Given the description of an element on the screen output the (x, y) to click on. 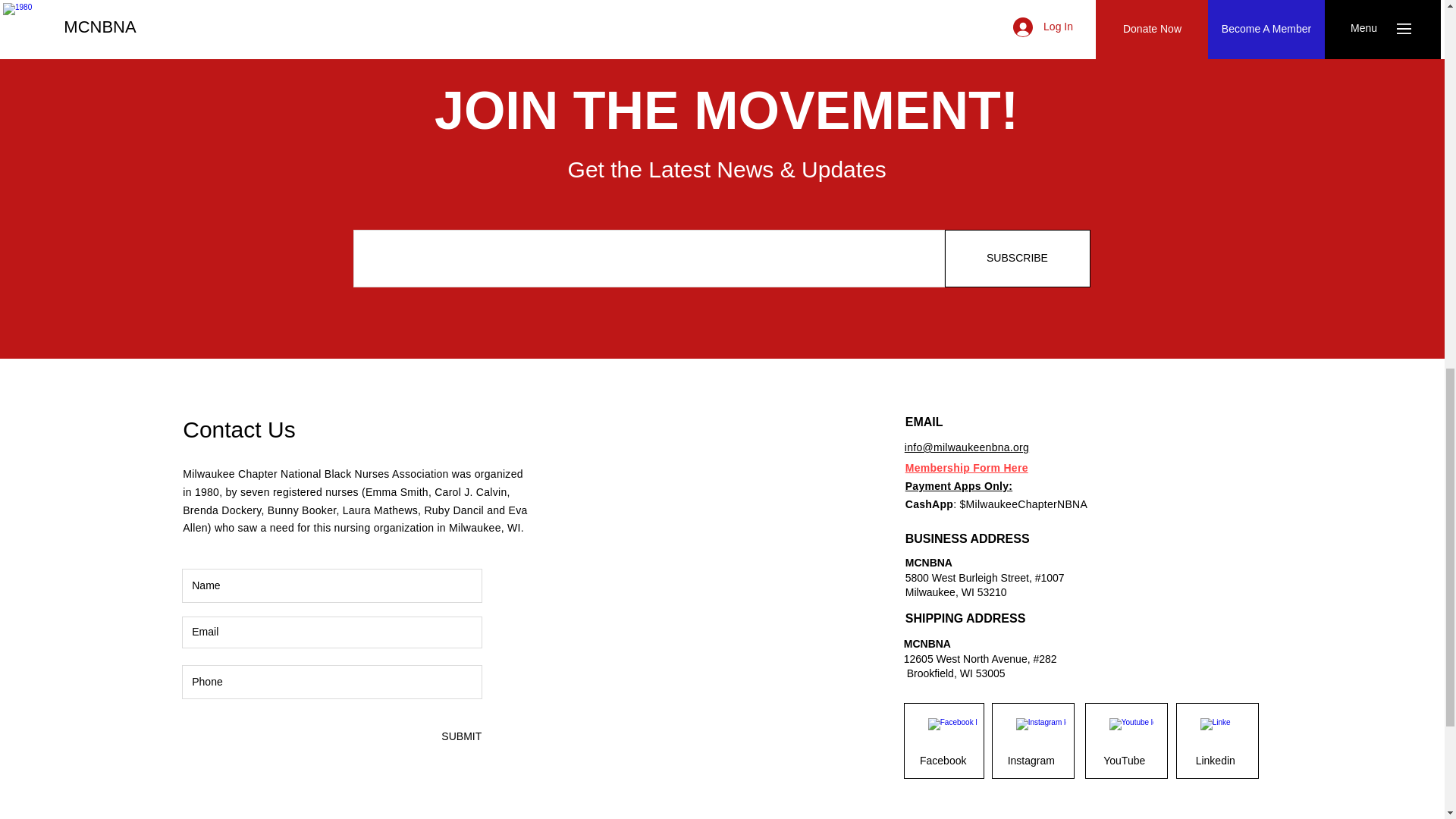
YouTube (1124, 761)
Linkedin (1215, 761)
SUBSCRIBE (1017, 258)
Instagram (1031, 761)
Membership (937, 467)
Facebook (943, 761)
 Form Here (998, 467)
SUBMIT (460, 736)
Payment Apps Only: (958, 485)
